Given the description of an element on the screen output the (x, y) to click on. 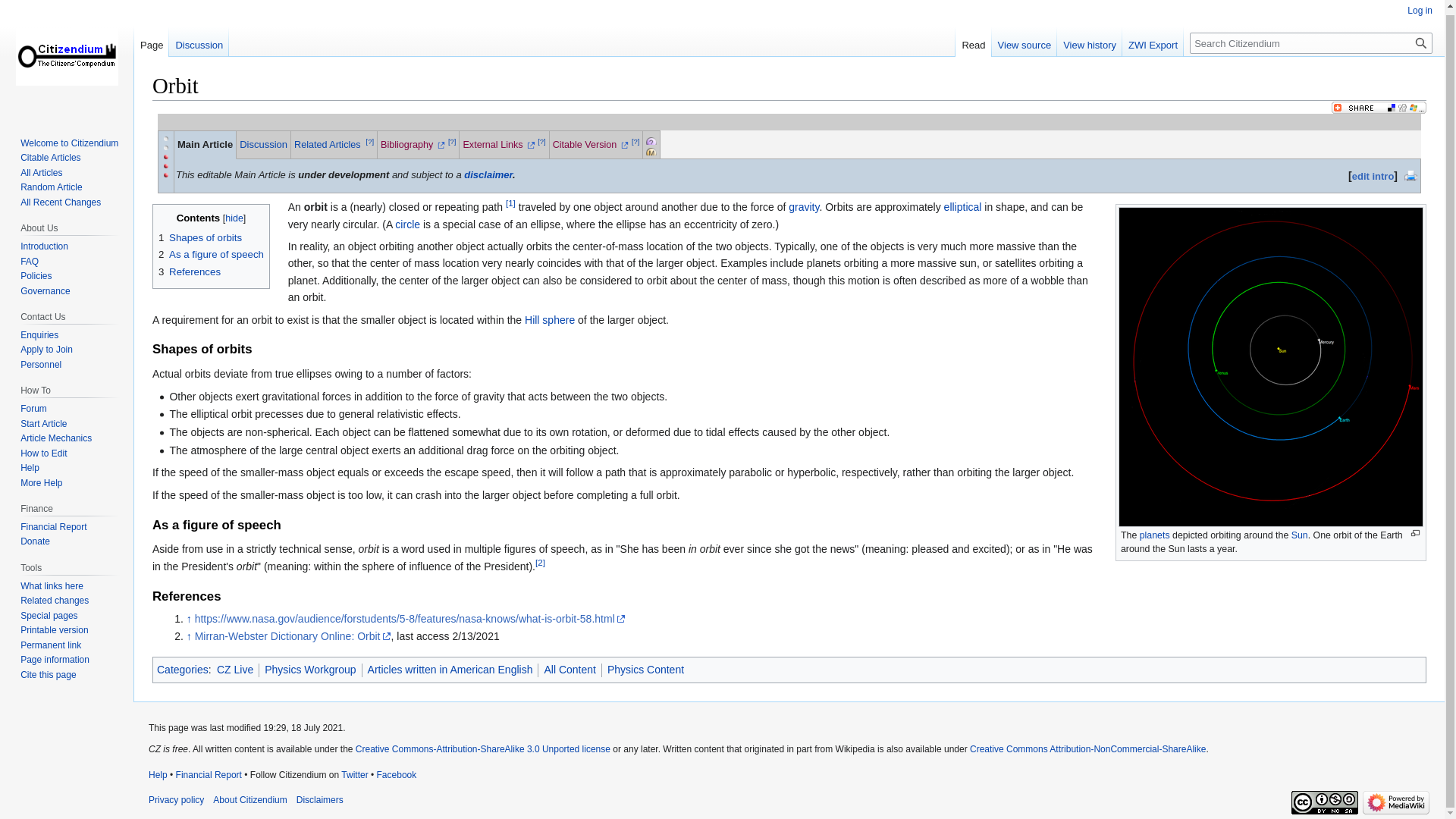
Search (1420, 43)
circle (407, 224)
CZ:Subpages (651, 141)
Search (1420, 43)
Go To Page (1420, 43)
Bibliography (412, 144)
2 As a figure of speech (210, 254)
Talk:Orbit (263, 143)
CZ:Disclaimer (488, 174)
Mirran-Webster Dictionary Online: Orbit (293, 635)
CZ:Subpages (666, 139)
Go To Page (1420, 43)
disclaimer (488, 174)
